Given the description of an element on the screen output the (x, y) to click on. 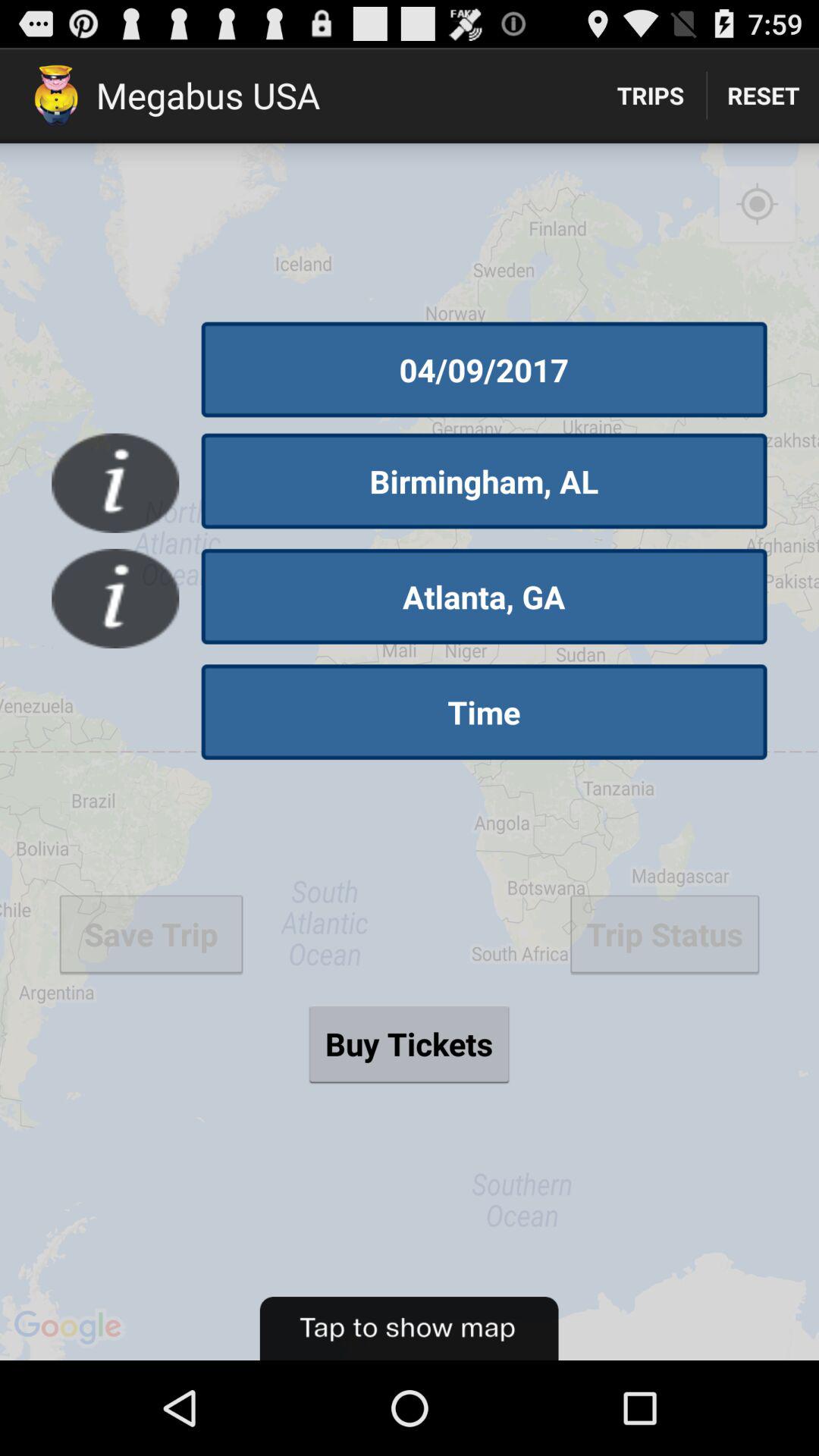
tap 04/09/2017 (484, 369)
